Given the description of an element on the screen output the (x, y) to click on. 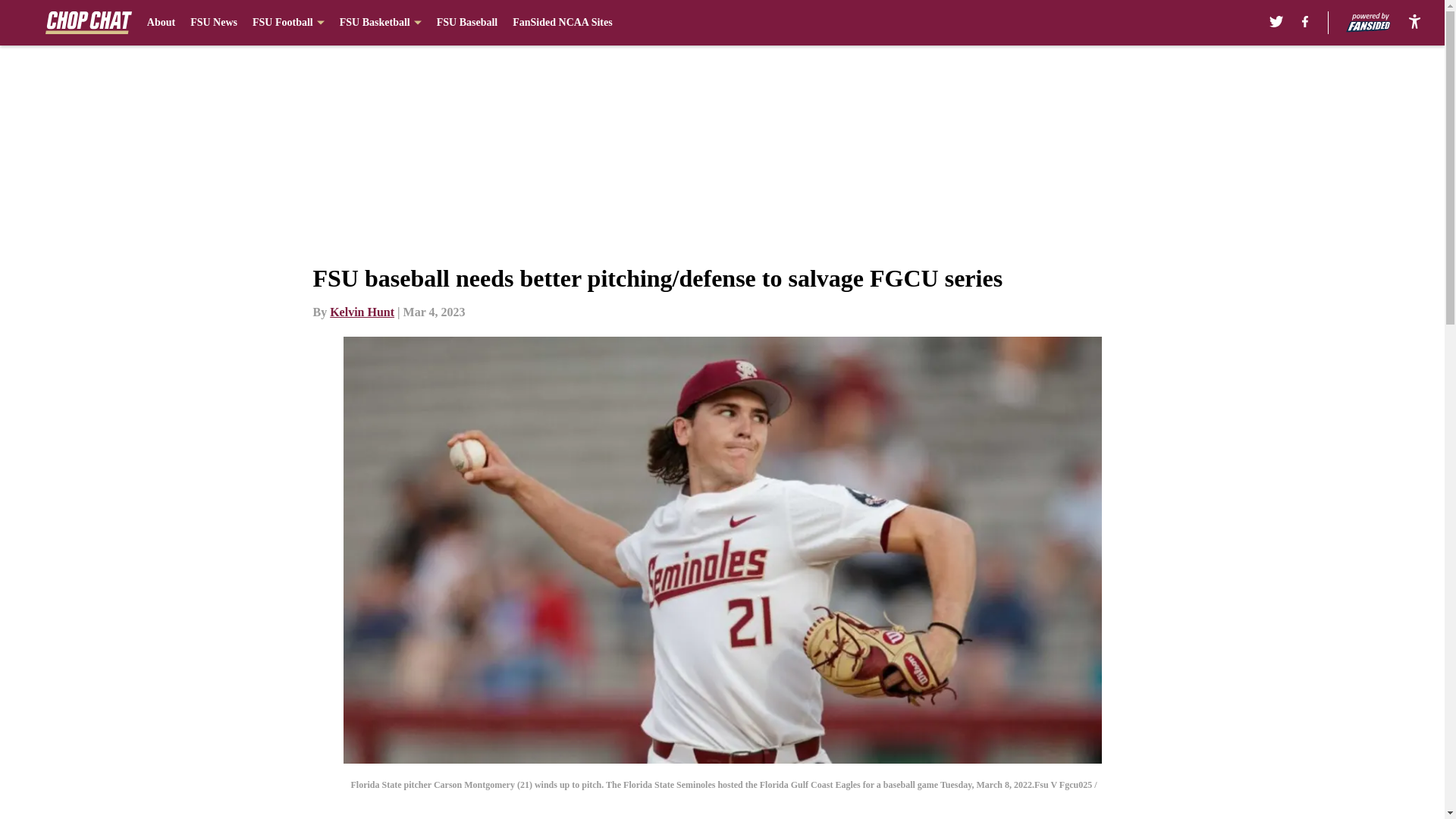
FSU News (213, 22)
FSU Baseball (466, 22)
About (160, 22)
Kelvin Hunt (362, 311)
FanSided NCAA Sites (561, 22)
